Given the description of an element on the screen output the (x, y) to click on. 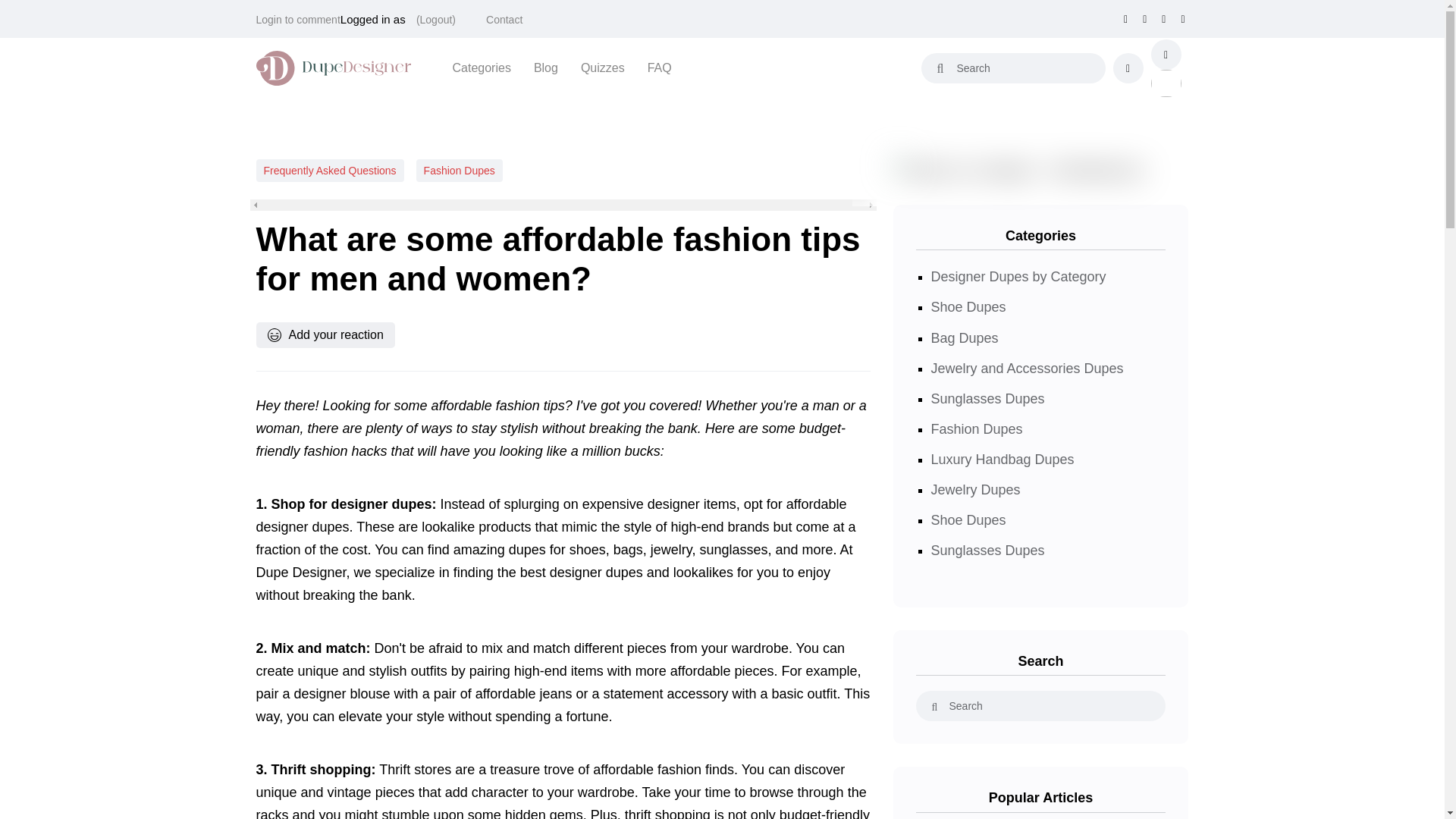
Categories (481, 67)
Contact (504, 19)
Login to comment (298, 19)
